Given the description of an element on the screen output the (x, y) to click on. 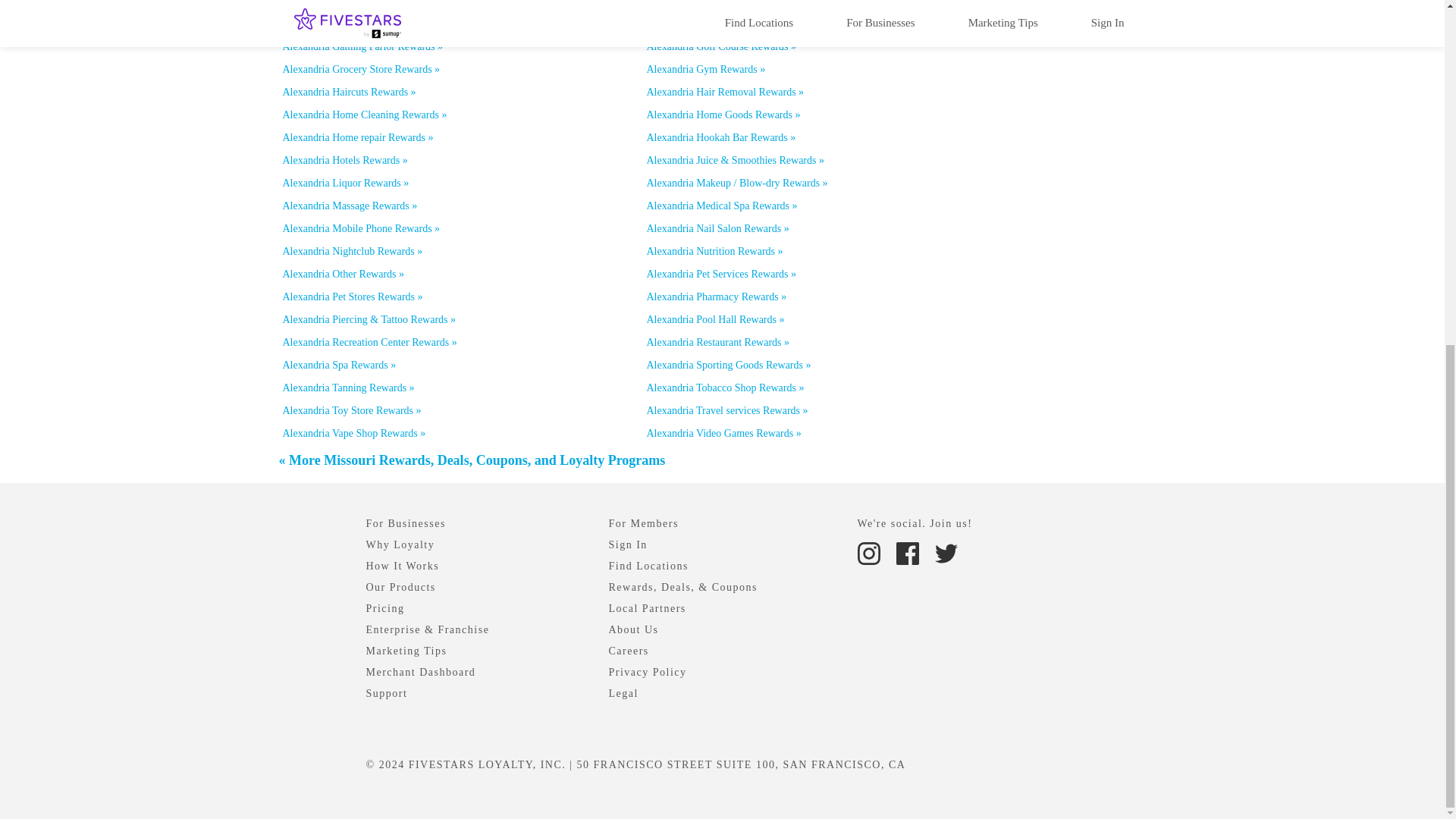
Fivestars Facebook (908, 552)
Find Locations (647, 565)
Fivestars Instagram (868, 553)
Fivestars Instagram (869, 552)
Fivestars Twitter (945, 553)
Merchant Dashboard and Analytics (420, 672)
Marketing Tips and Blog (405, 650)
Fivestars Twitter (945, 552)
Fivestars Facebook (907, 553)
Support and Customer Service (386, 693)
